Given the description of an element on the screen output the (x, y) to click on. 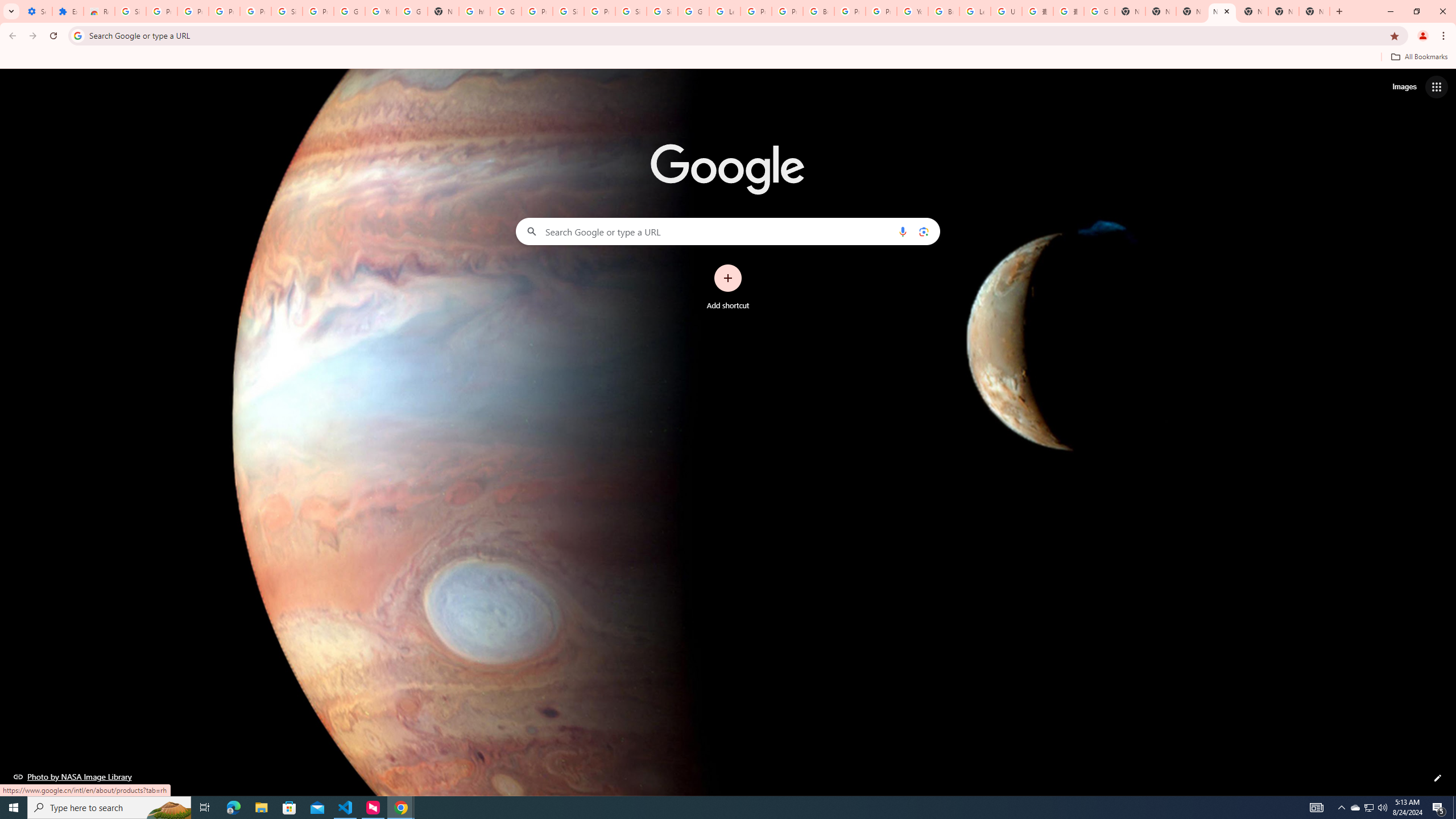
YouTube (912, 11)
Sign in - Google Accounts (568, 11)
